Given the description of an element on the screen output the (x, y) to click on. 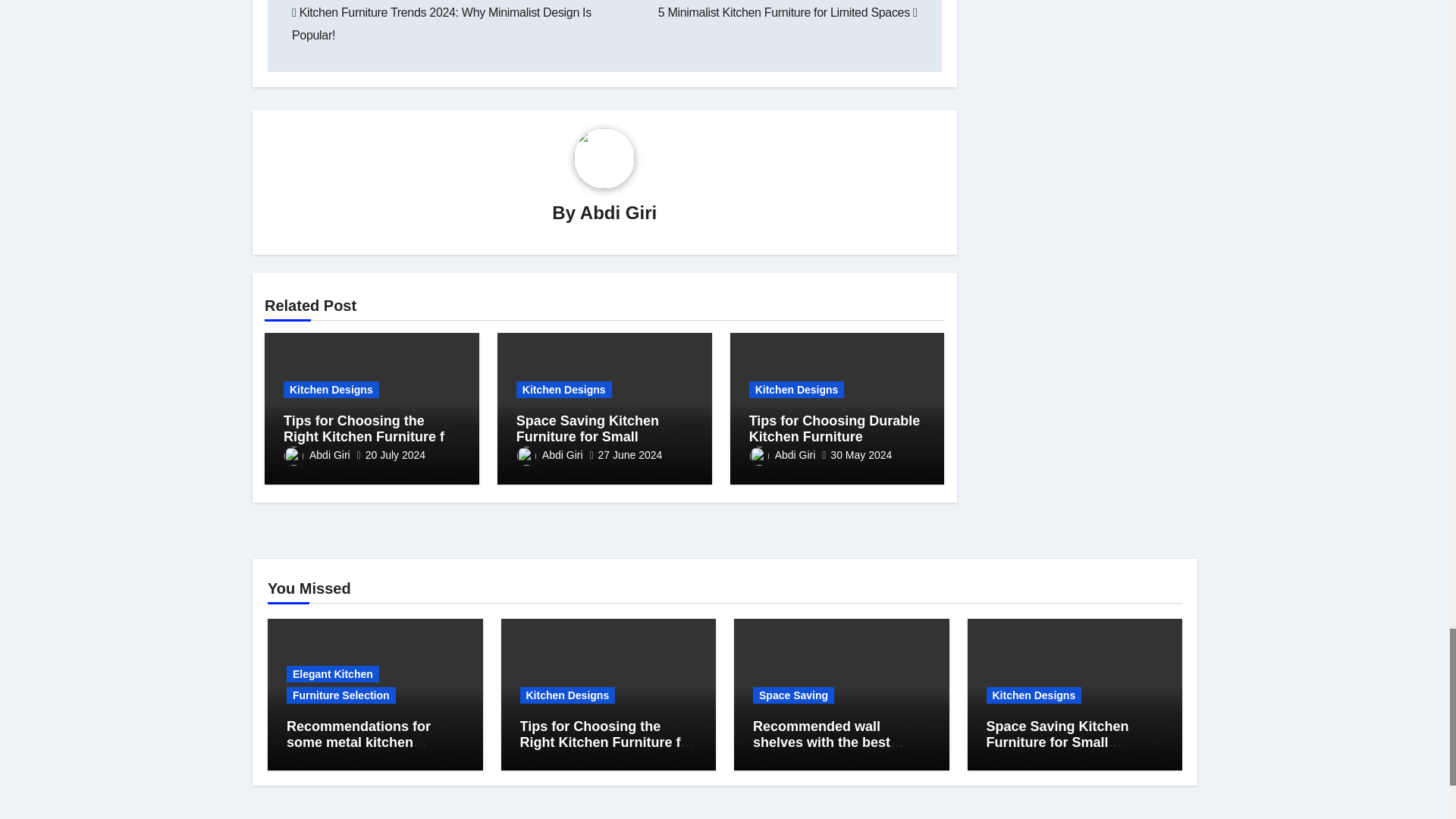
Kitchen Designs (330, 389)
Abdi Giri (617, 212)
5 Minimalist Kitchen Furniture for Limited Spaces (787, 11)
Permalink to: Recommended wall shelves with the best quality (828, 742)
Permalink to: Tips for Choosing Durable Kitchen Furniture (834, 429)
